Given the description of an element on the screen output the (x, y) to click on. 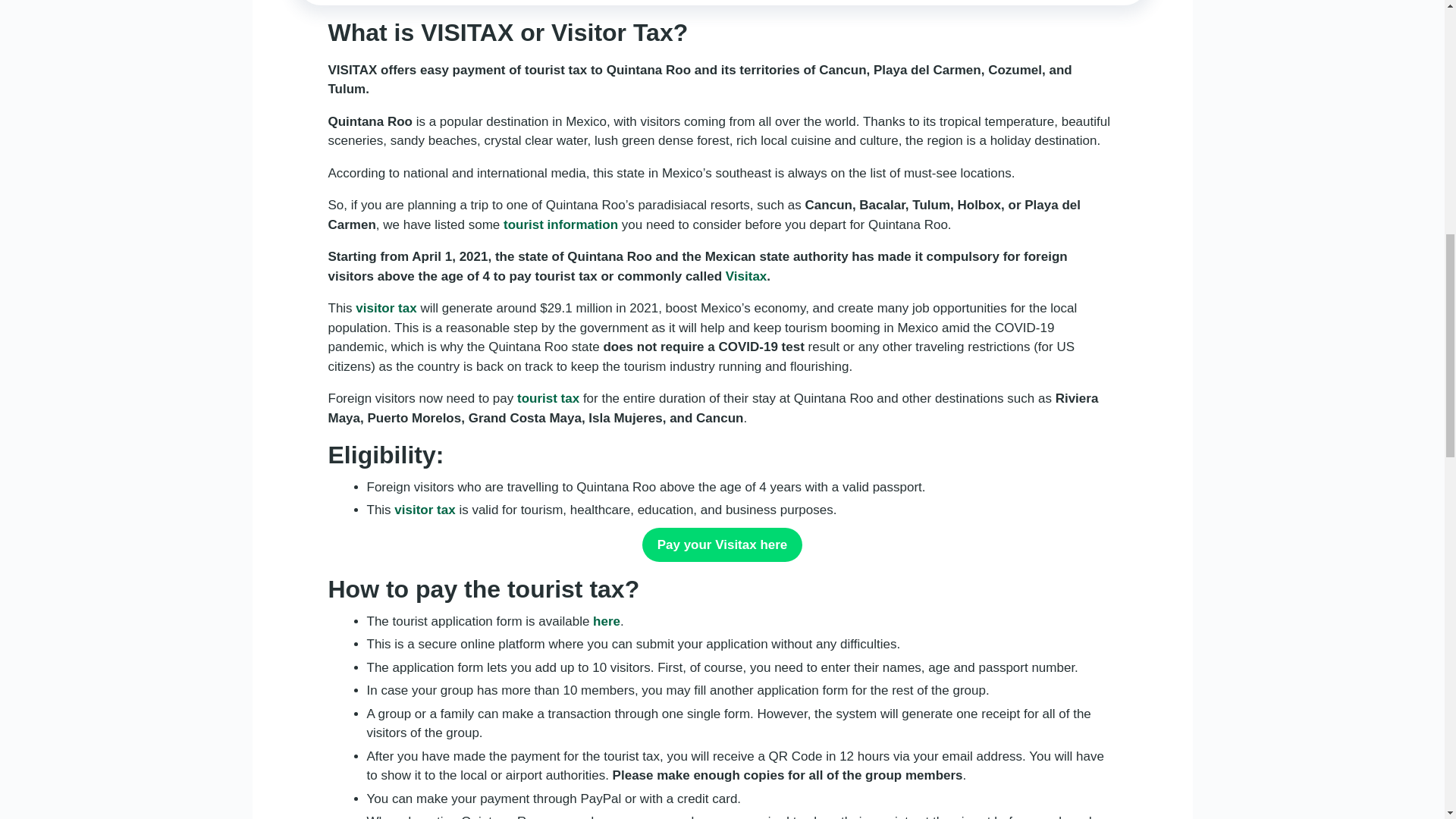
visitor tax (424, 509)
visitor tax (385, 308)
Pay your Visitax here (722, 544)
tourist information (560, 224)
here (606, 621)
tourist tax (547, 398)
Visitax (746, 276)
